Given the description of an element on the screen output the (x, y) to click on. 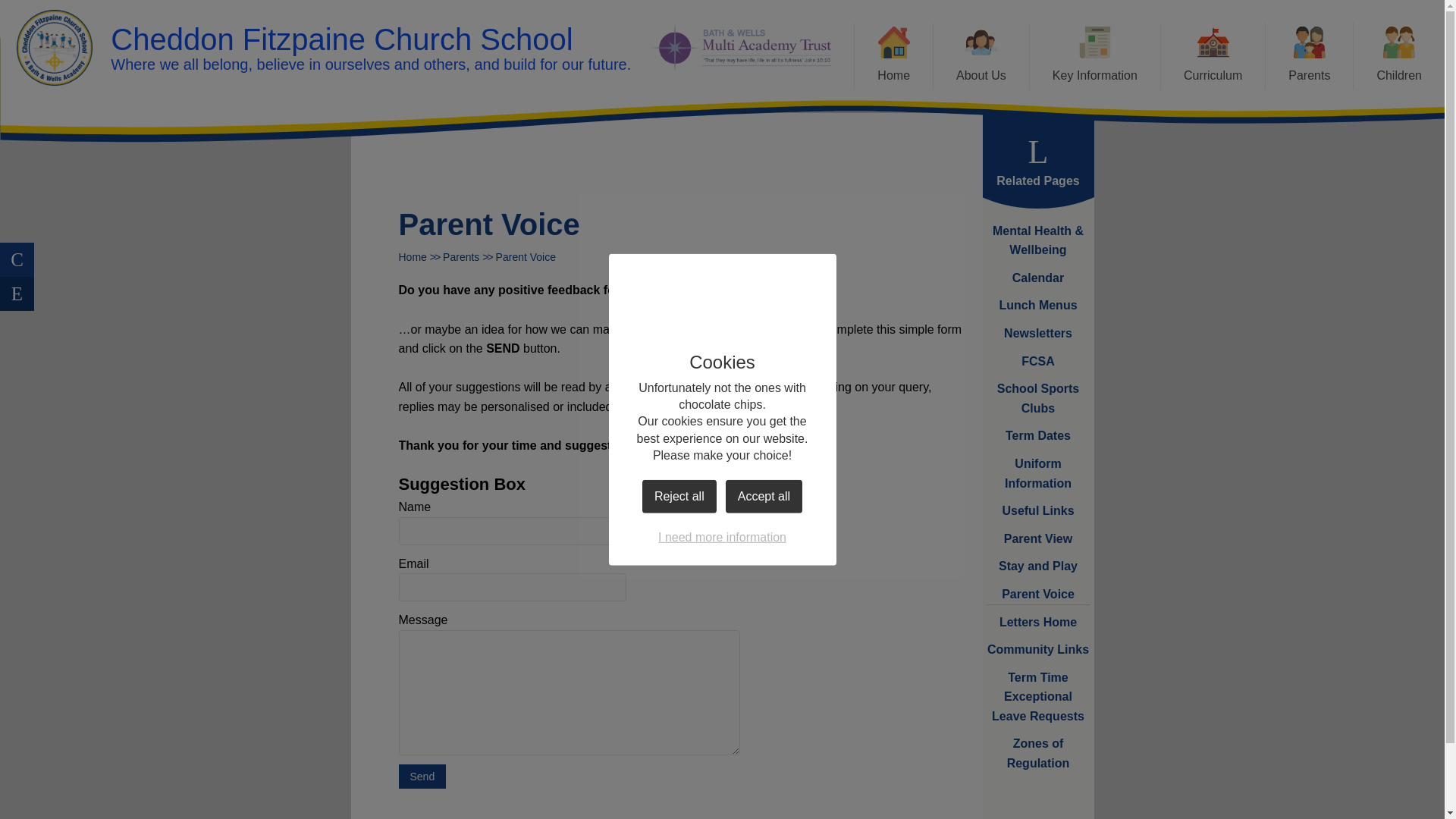
Home (893, 55)
Curriculum (1212, 55)
Key Information (1094, 55)
Trust Website (740, 47)
About Us (981, 55)
Home Page (54, 47)
